Given the description of an element on the screen output the (x, y) to click on. 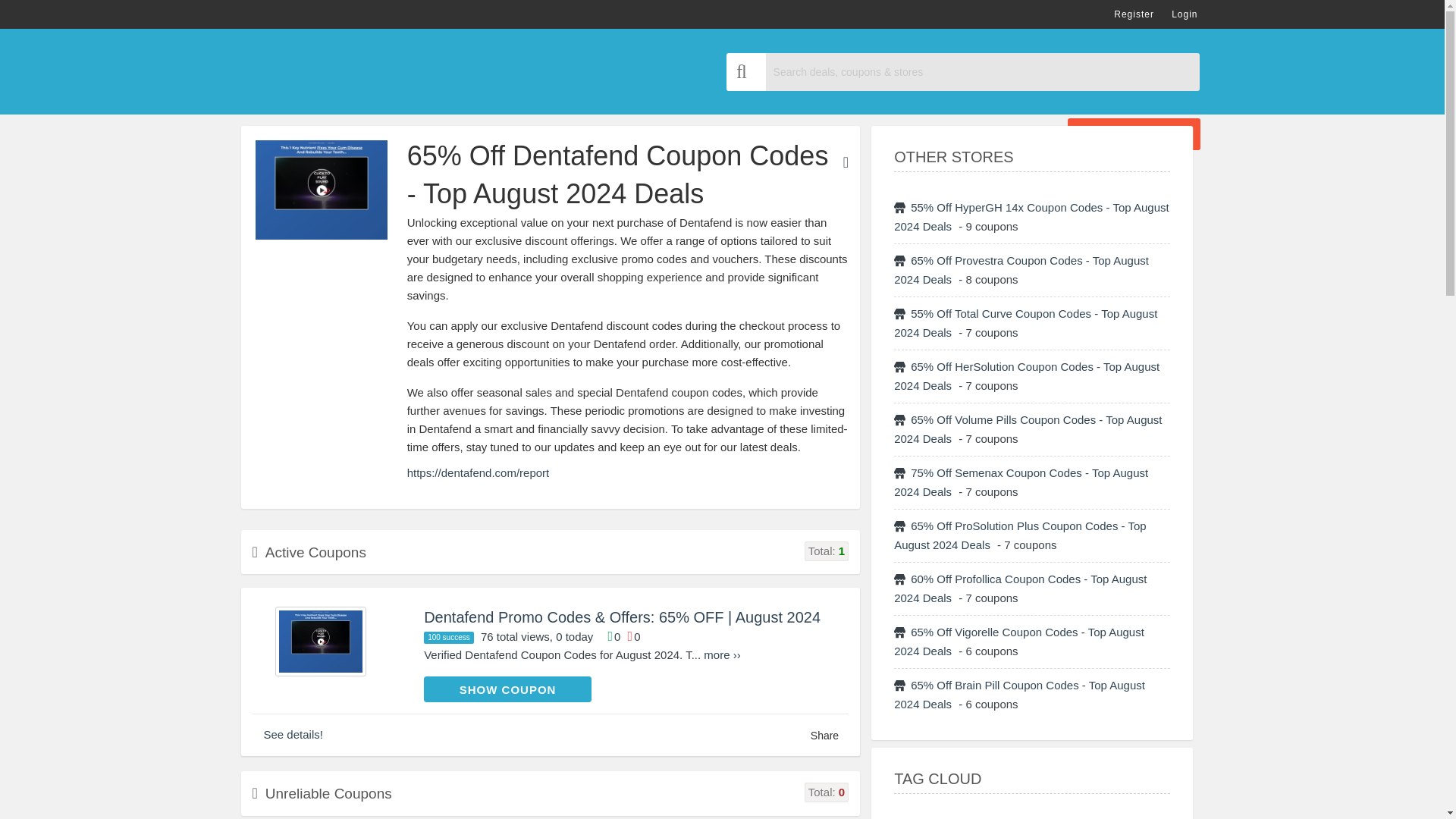
Register (1134, 14)
See details! (293, 734)
SHARE A COUPON (1133, 133)
SHOW COUPON (507, 688)
Login (1185, 14)
Search (745, 71)
